Given the description of an element on the screen output the (x, y) to click on. 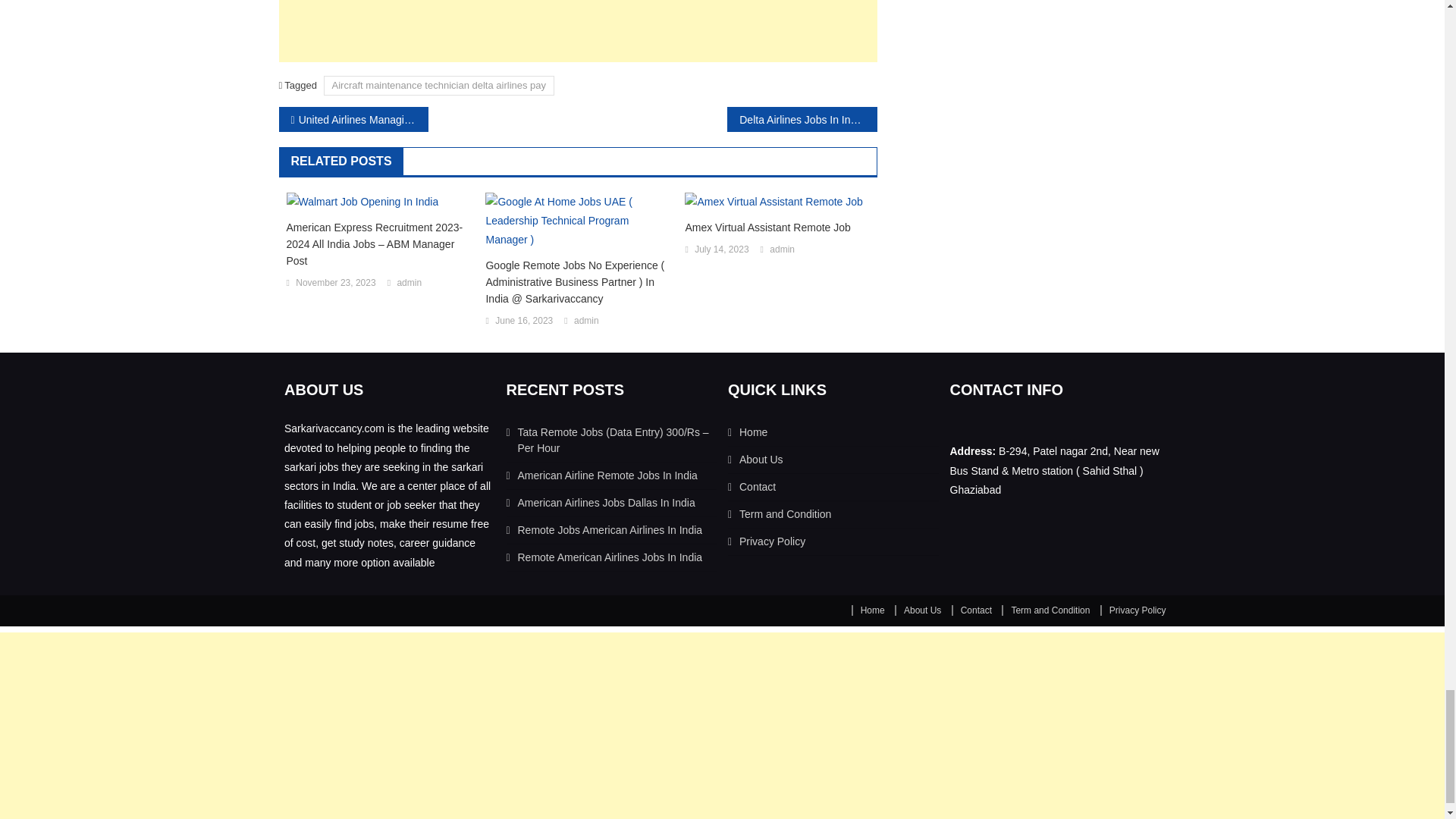
admin (782, 249)
United Airlines Managing Director Jobs In India (353, 119)
Aircraft maintenance technician delta airlines pay (438, 85)
July 14, 2023 (721, 249)
November 23, 2023 (335, 283)
Delta Airlines Jobs In India (801, 119)
admin (409, 283)
June 16, 2023 (524, 321)
Amex Virtual Assistant Remote Job (776, 227)
admin (585, 321)
